Given the description of an element on the screen output the (x, y) to click on. 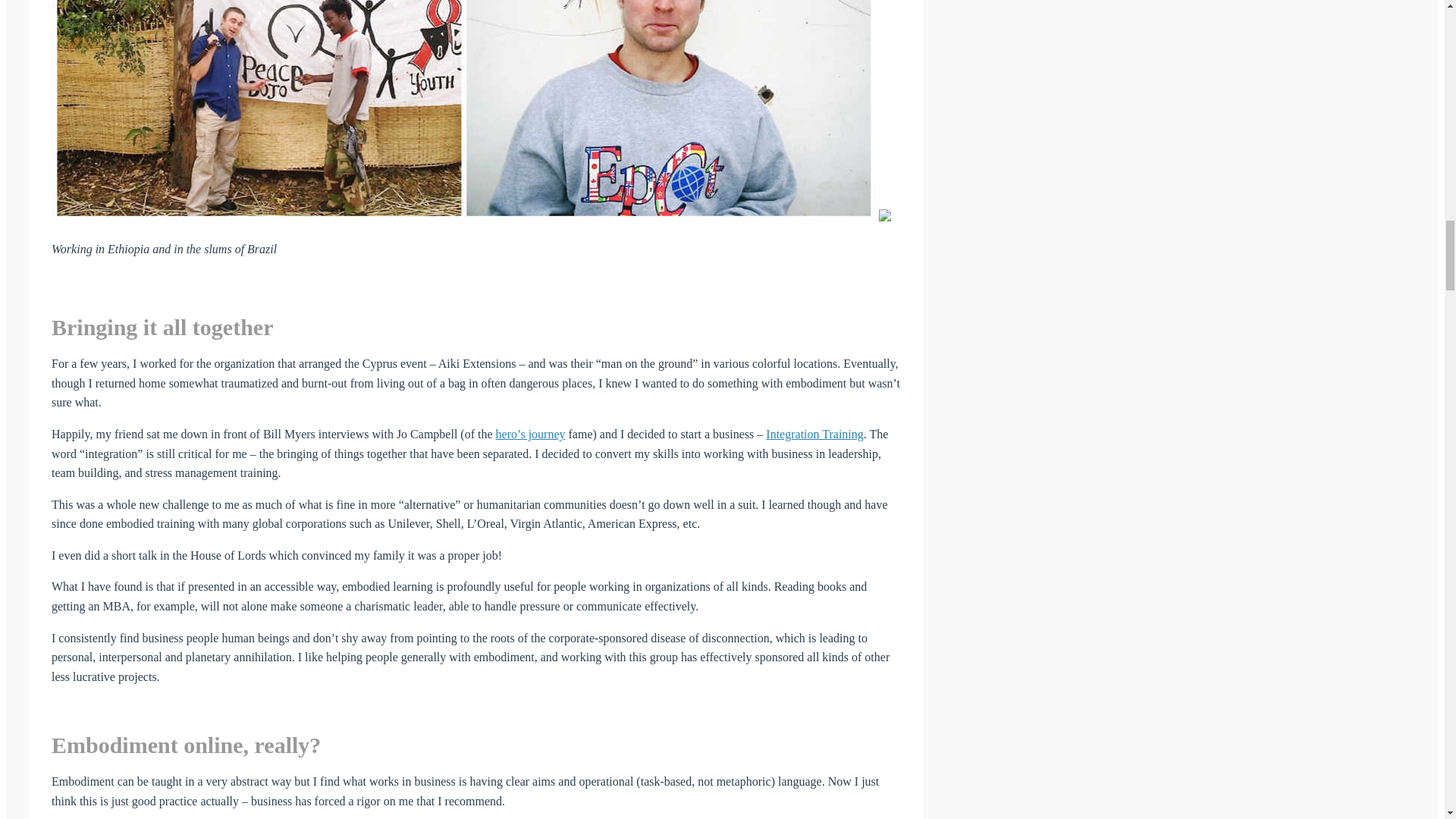
Integration Training (814, 433)
